Given the description of an element on the screen output the (x, y) to click on. 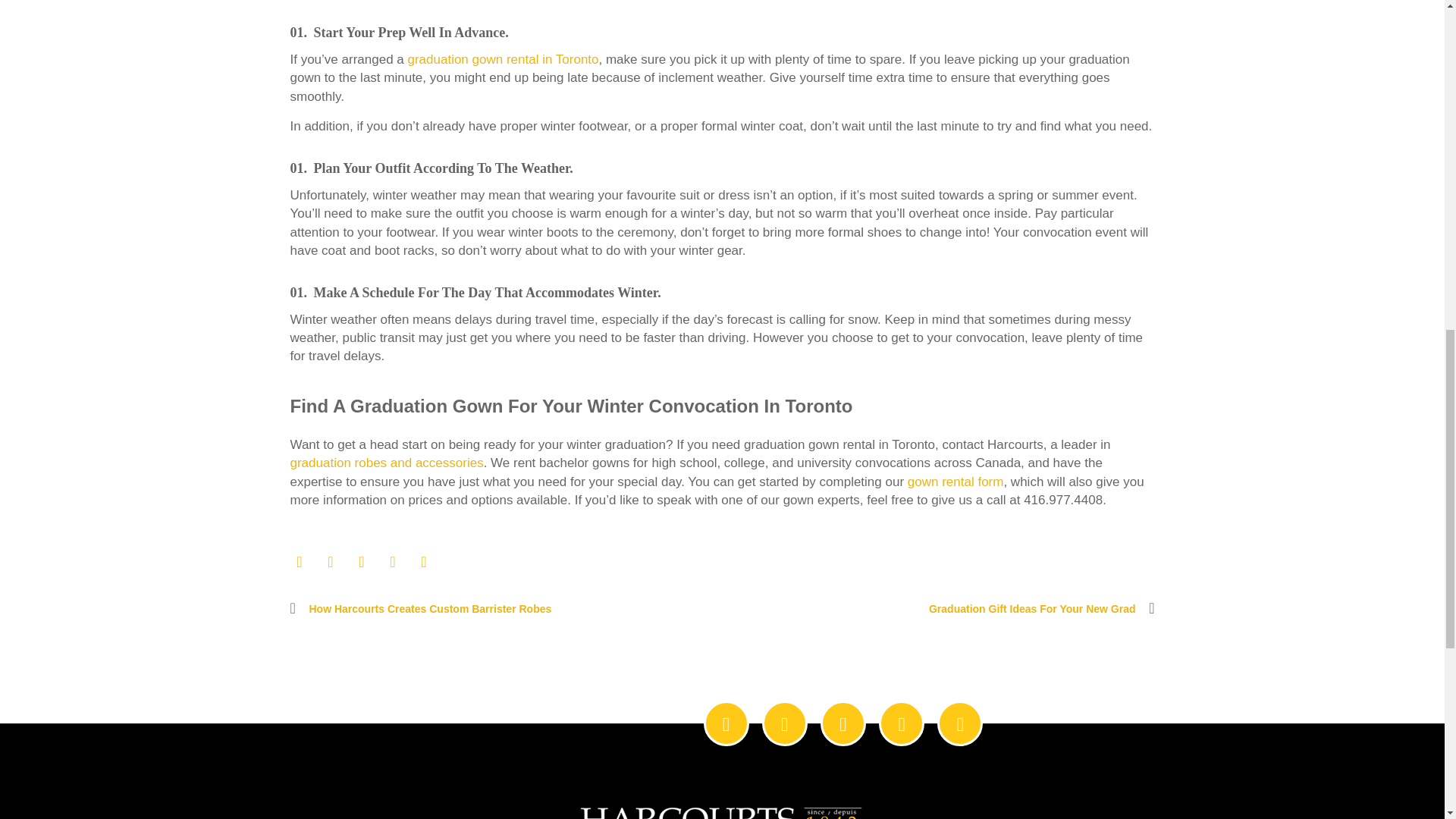
Share on LinkedIn (393, 561)
Share on Pinterest (422, 561)
Share on Facebook (298, 561)
Share on Twitter (330, 561)
